Given the description of an element on the screen output the (x, y) to click on. 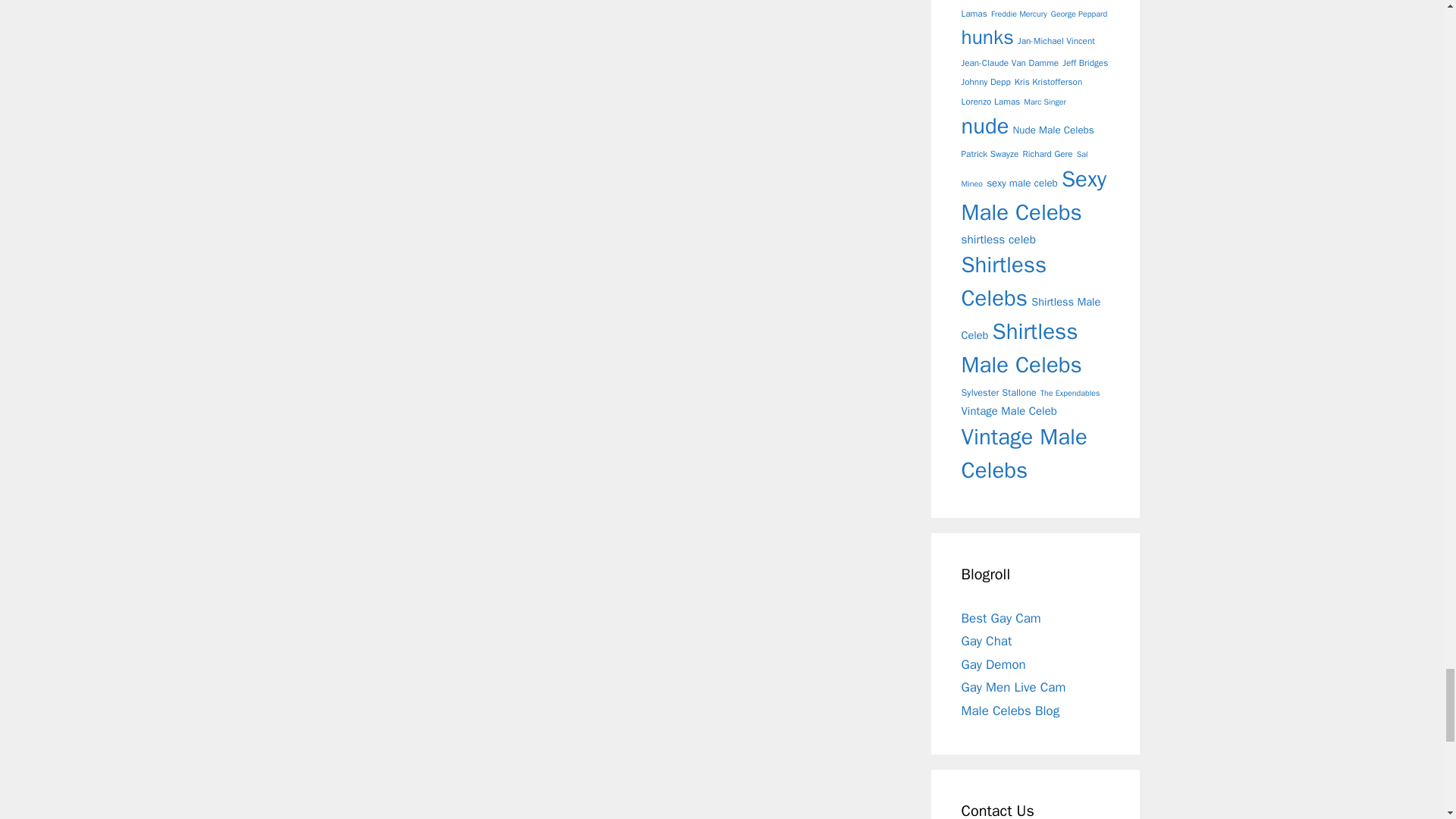
Gay Demon (993, 664)
Gay Chat (985, 641)
Best Gay Cam (1000, 618)
Gay Men Live Cam (1012, 687)
